Given the description of an element on the screen output the (x, y) to click on. 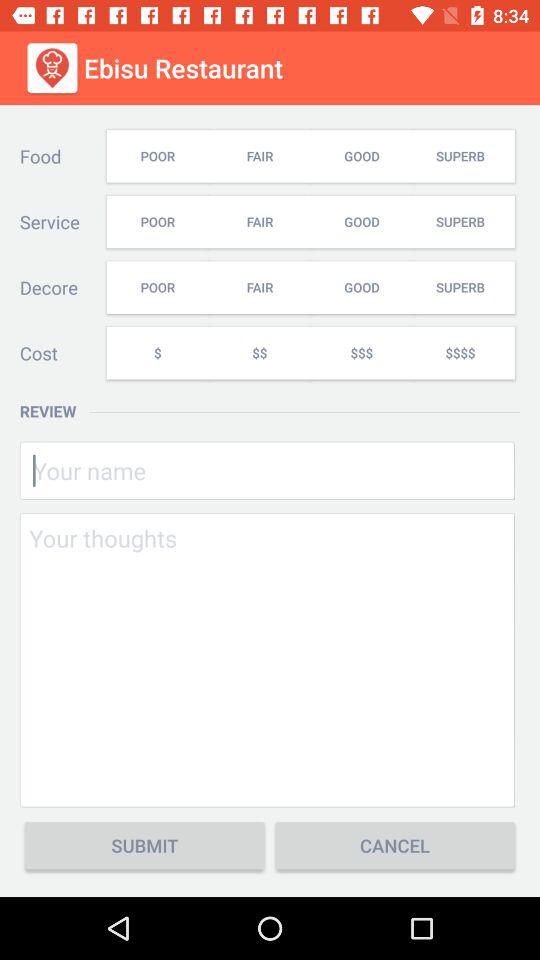
turn on the item next to cost (157, 352)
